Given the description of an element on the screen output the (x, y) to click on. 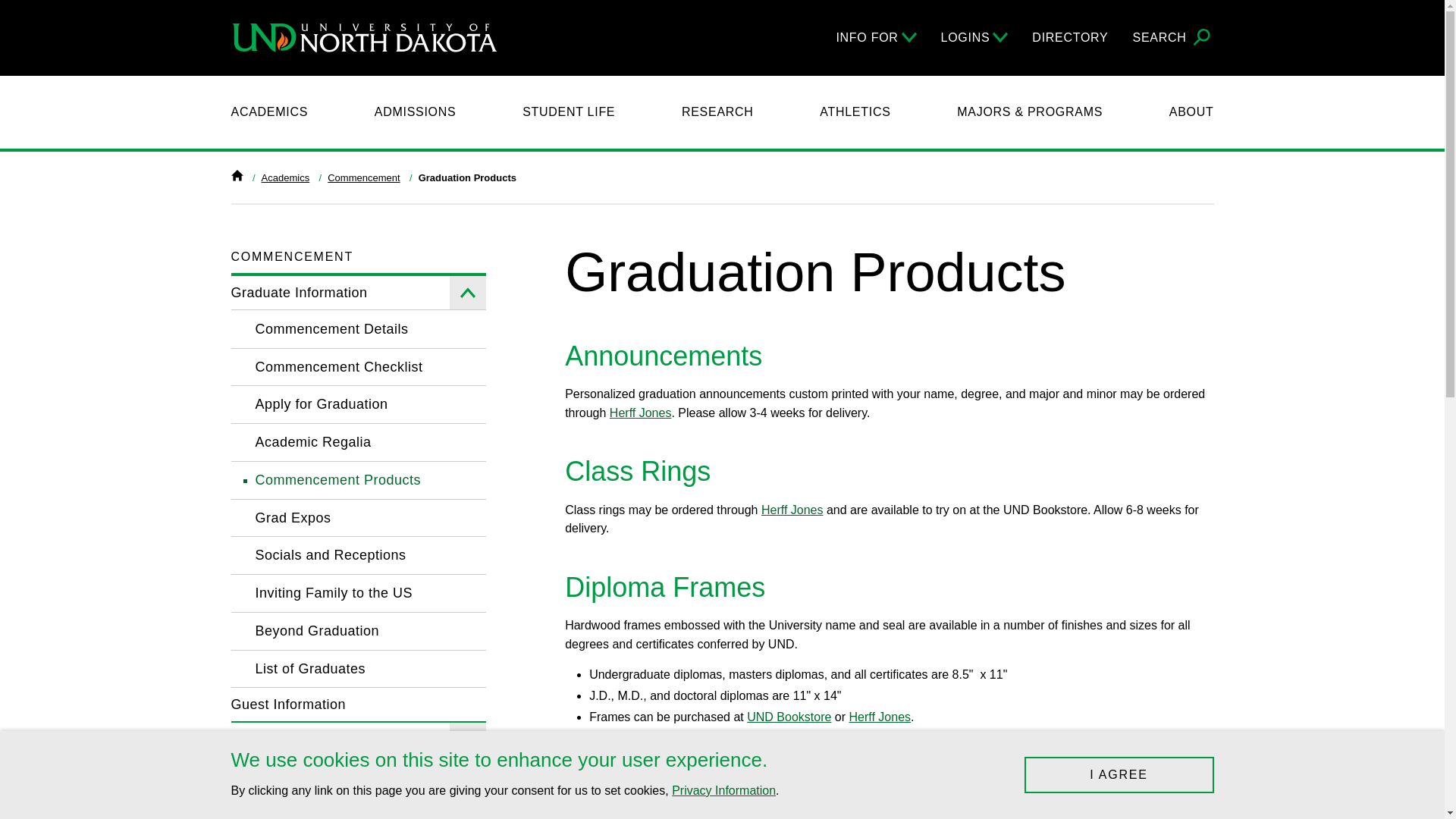
DIRECTORY (1070, 37)
ABOUT (1191, 111)
ATHLETICS (854, 111)
ACADEMICS (268, 111)
STUDENT LIFE (568, 111)
LOGINS (974, 37)
RESEARCH (717, 111)
ADMISSIONS (415, 111)
SEARCH (1173, 37)
INFO FOR (875, 37)
